Given the description of an element on the screen output the (x, y) to click on. 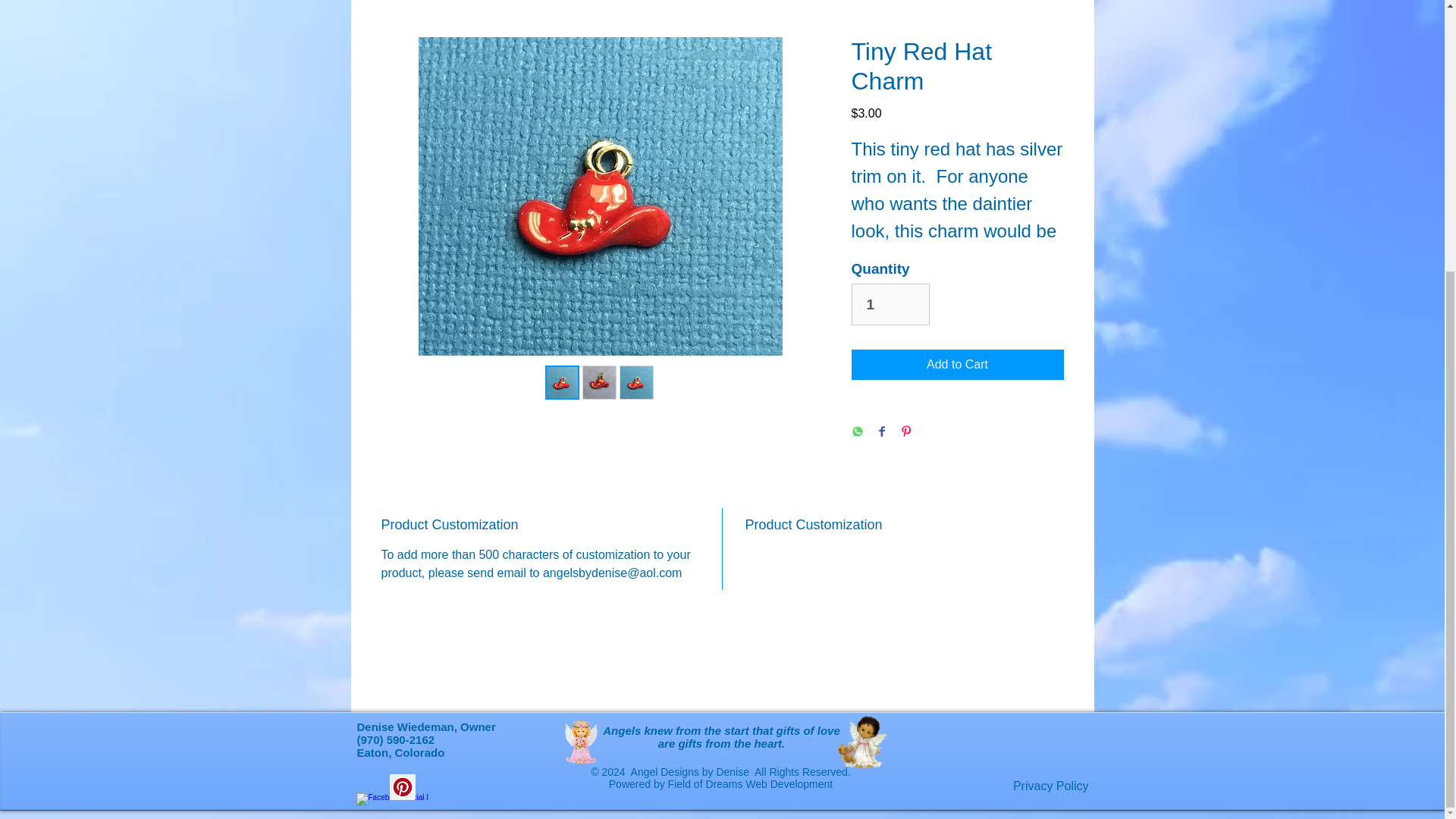
Add to Cart (956, 364)
1 (890, 304)
